Given the description of an element on the screen output the (x, y) to click on. 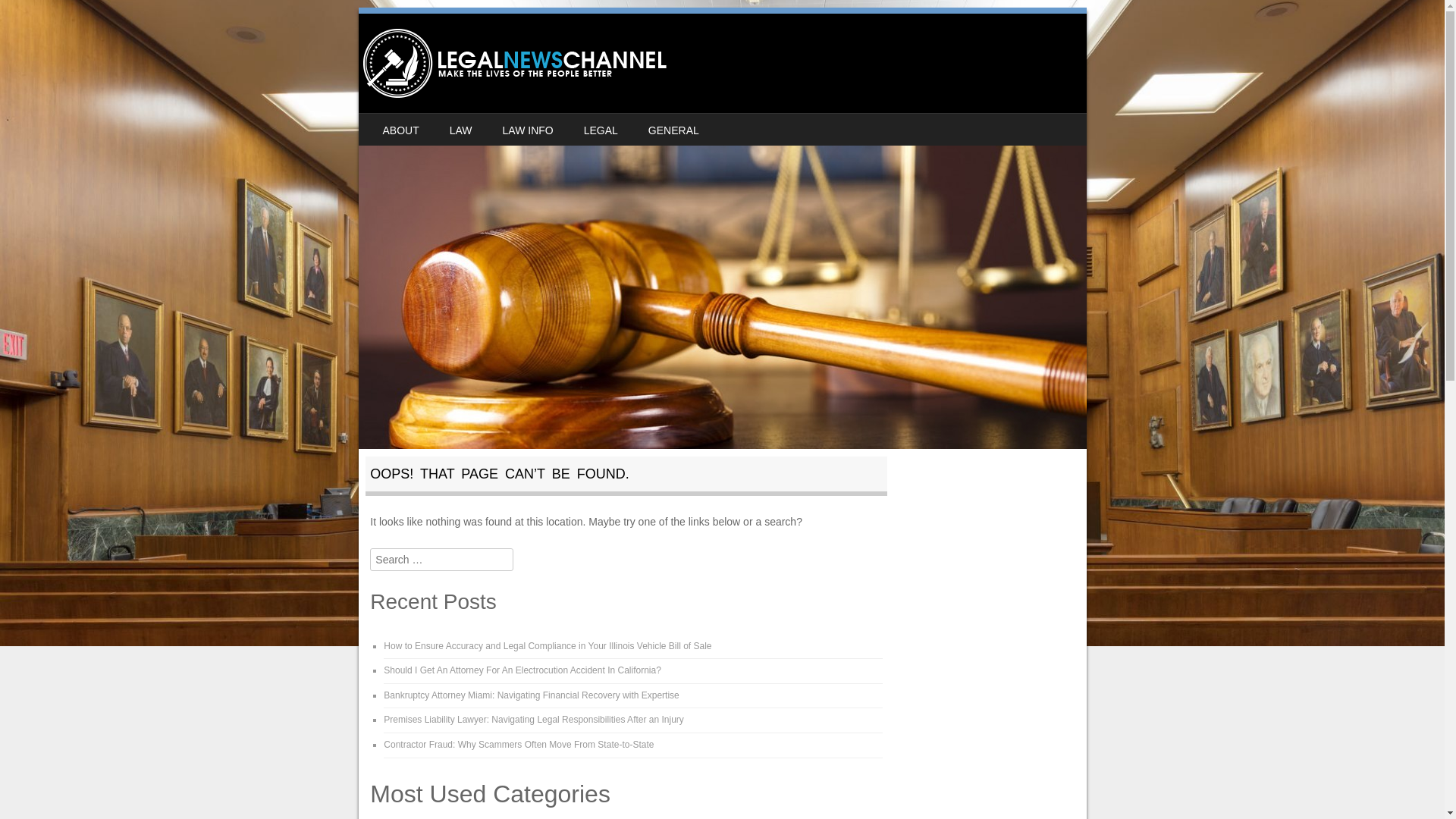
ABOUT (399, 129)
Legal News Channel (513, 62)
LAW INFO (528, 129)
Skip to content (405, 123)
Search (33, 17)
LEGAL (601, 129)
GENERAL (673, 129)
SKIP TO CONTENT (405, 123)
